Given the description of an element on the screen output the (x, y) to click on. 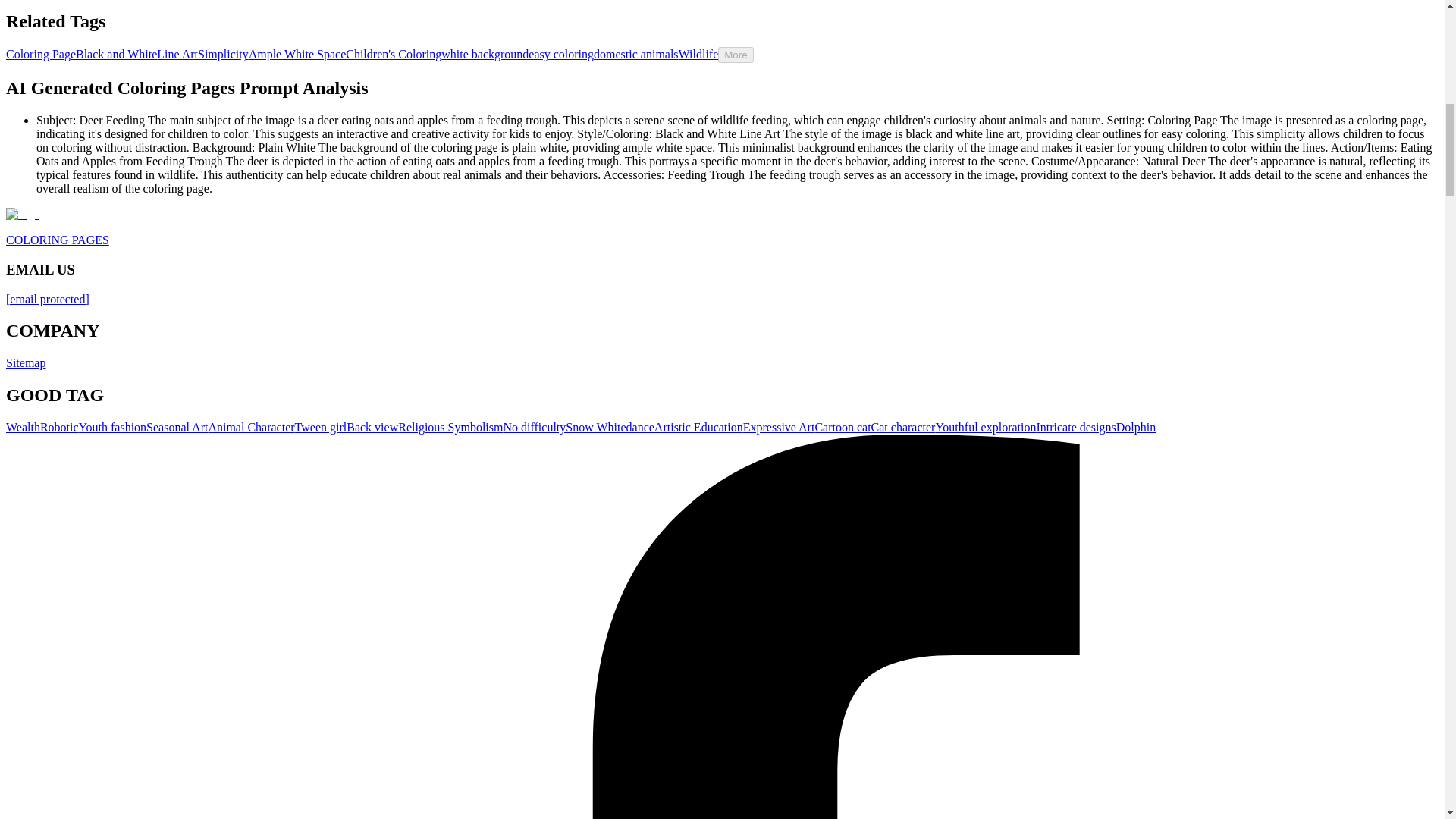
Simplicity (223, 53)
Animal Character (251, 427)
Religious Symbolism (449, 427)
domestic animals (636, 53)
easy coloring (561, 53)
dance (639, 427)
Youth fashion (112, 427)
Coloring Page (40, 53)
Dolphin (1136, 427)
Religious Symbolism (449, 427)
Intricate designs (1075, 427)
Cat character (903, 427)
Ample White Space (297, 53)
Robotic (59, 427)
Children's Coloring (393, 53)
